Given the description of an element on the screen output the (x, y) to click on. 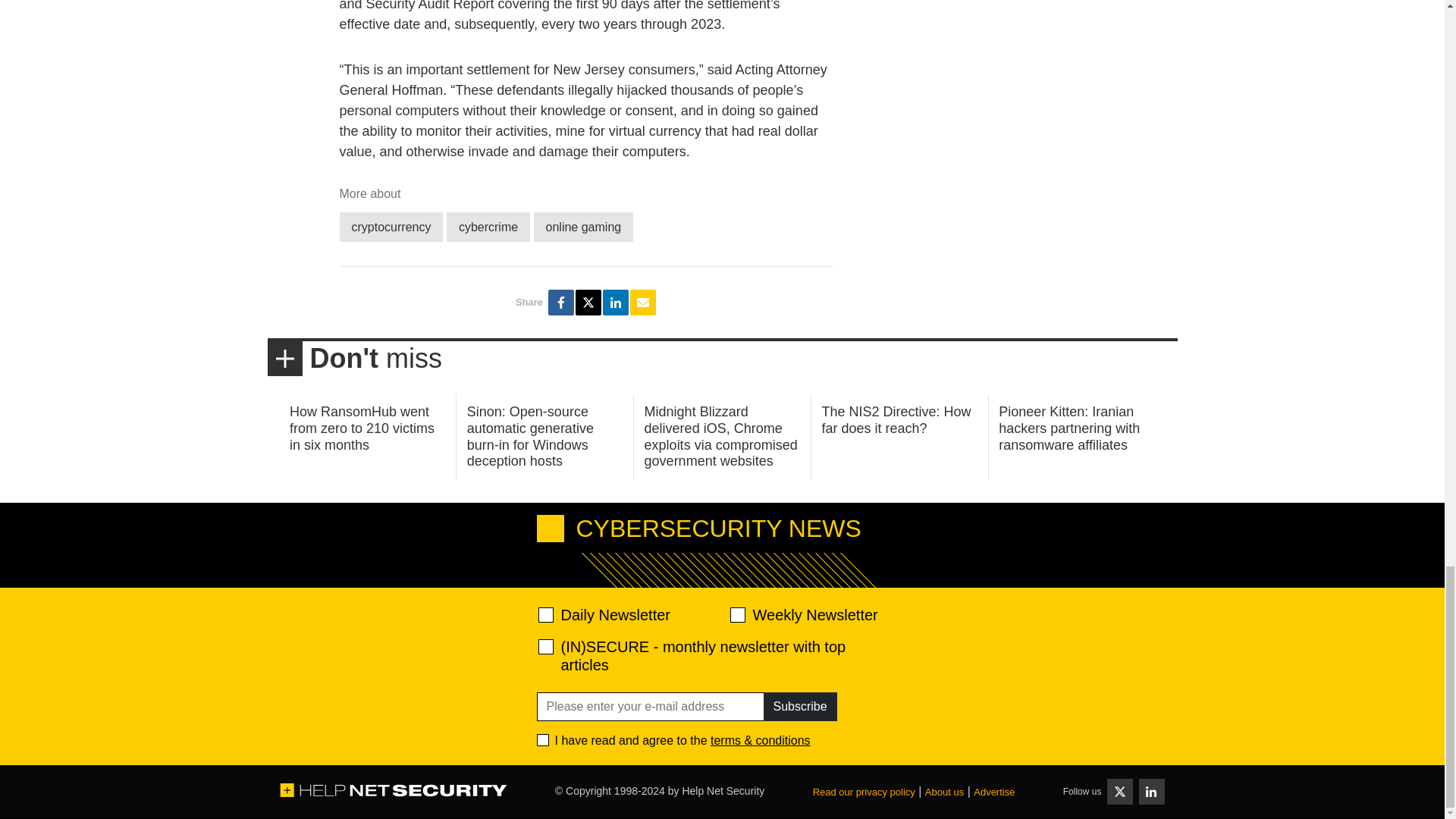
d2d471aafa (736, 614)
cryptocurrency (391, 226)
1 (542, 739)
online gaming (583, 226)
cybercrime (487, 226)
cryptocurrency (391, 226)
How RansomHub went from zero to 210 victims in six months (361, 428)
cybercrime (487, 226)
520ac2f639 (545, 614)
